Given the description of an element on the screen output the (x, y) to click on. 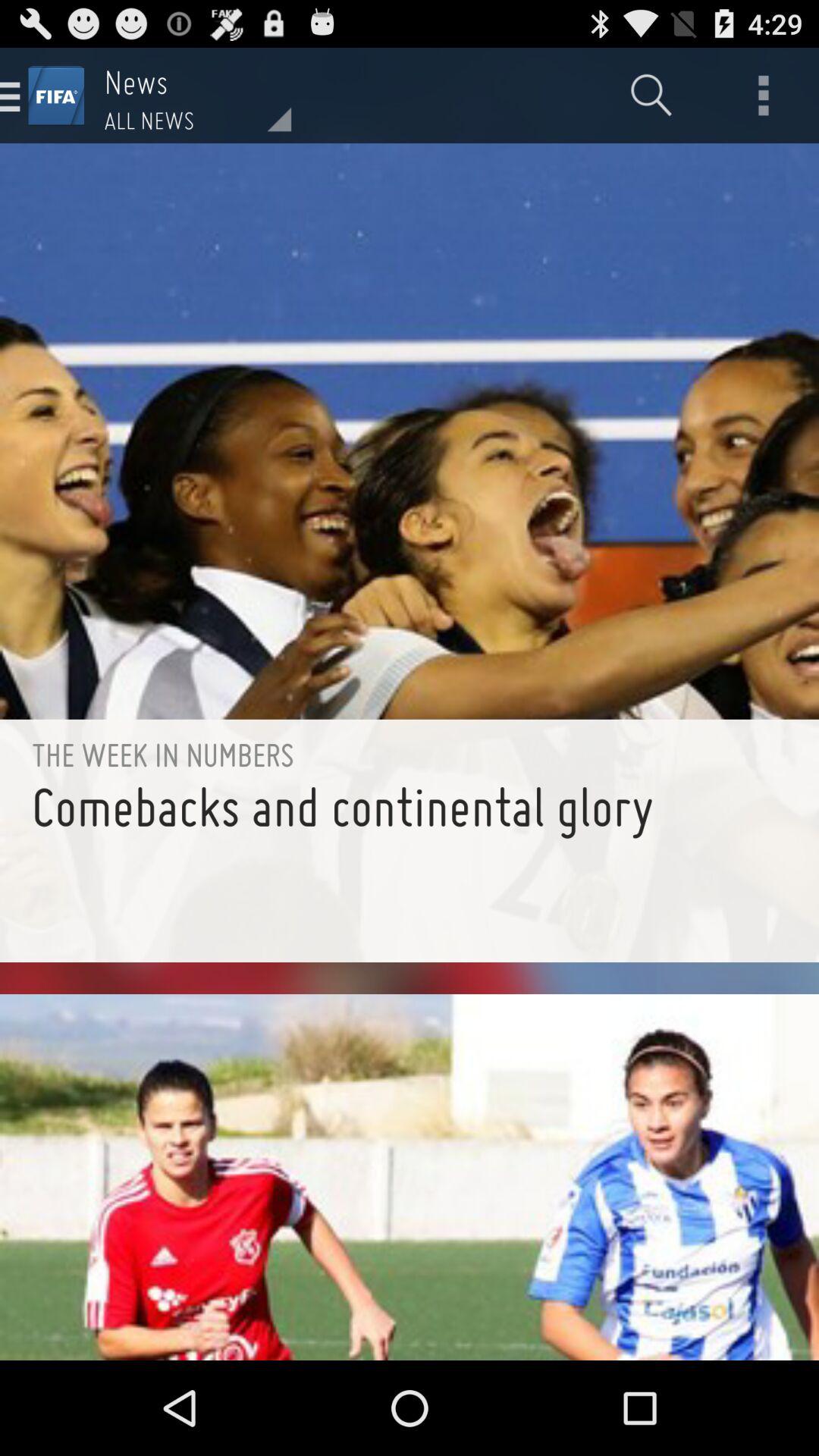
press item next to the all news item (651, 95)
